Given the description of an element on the screen output the (x, y) to click on. 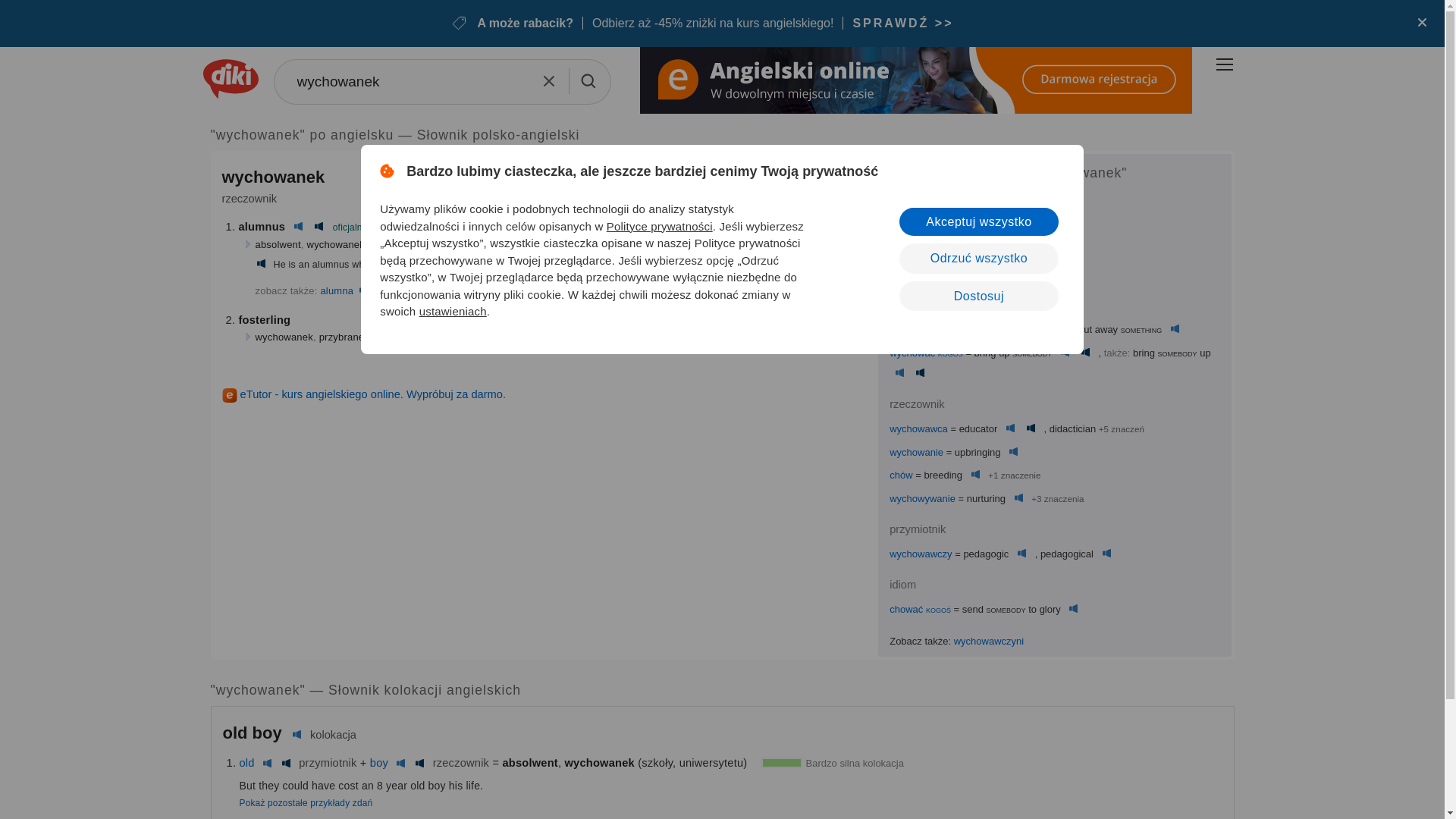
Szukaj (587, 80)
British English (986, 250)
American English (1009, 274)
British English (1030, 328)
British English (298, 226)
American English (318, 226)
oficjalnie (351, 226)
British English (440, 226)
przybrane dziecko (359, 337)
alumnus (261, 226)
